Given the description of an element on the screen output the (x, y) to click on. 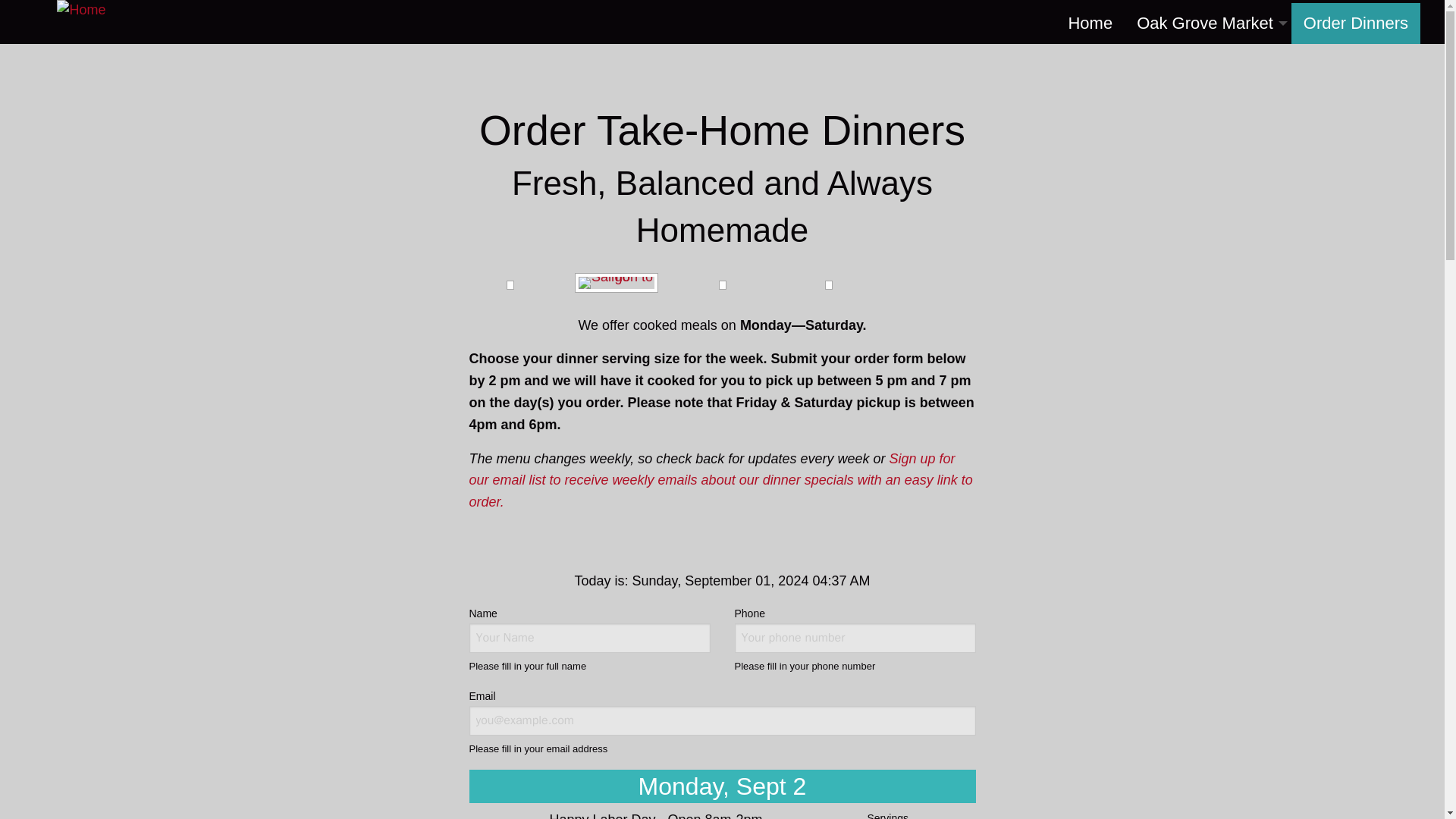
Oak Grove Market (1207, 23)
Home (109, 10)
Home (1089, 23)
Home (1089, 23)
Order Dinners (1356, 23)
Order Dinners (1356, 23)
